Given the description of an element on the screen output the (x, y) to click on. 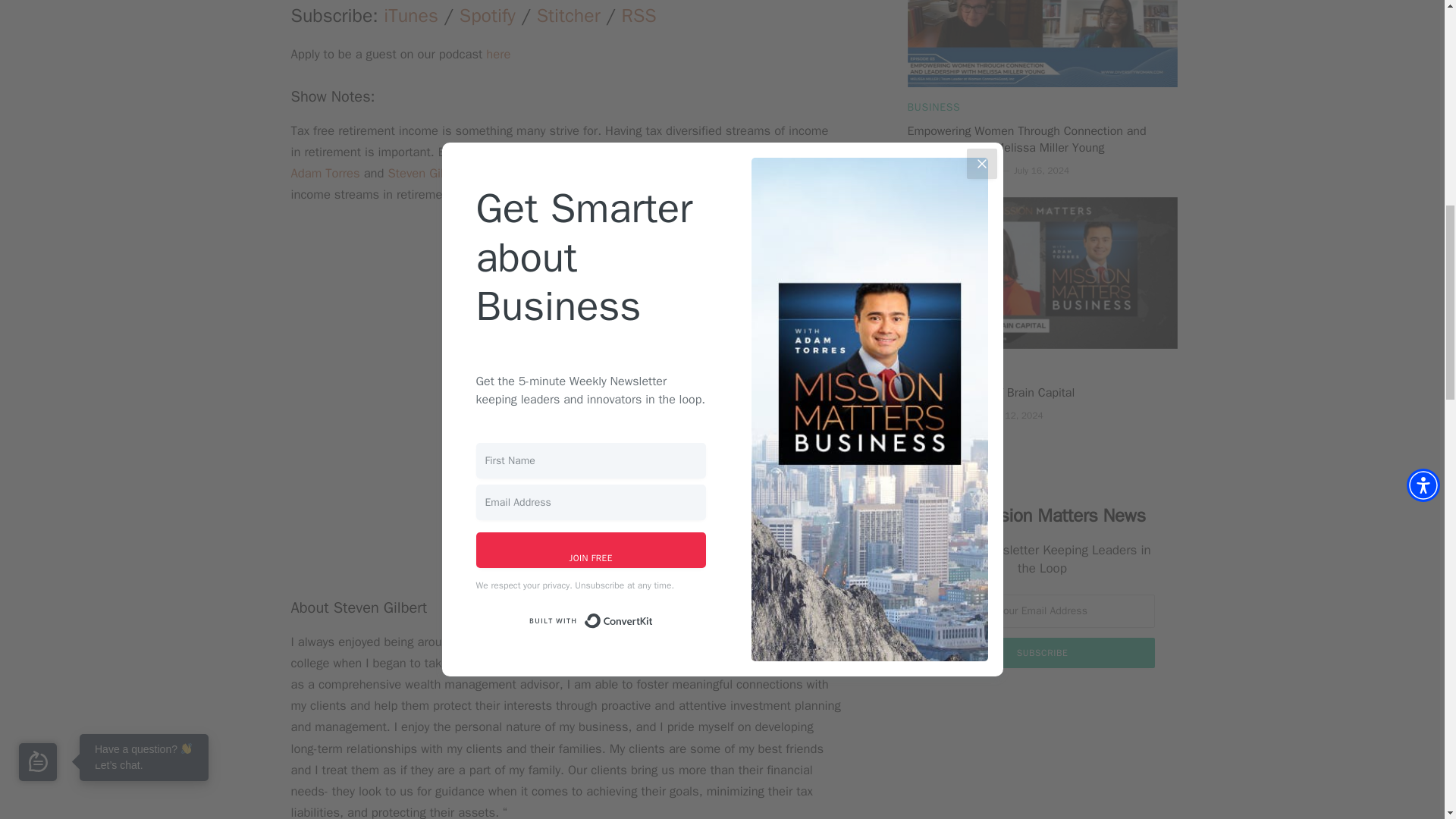
Subscribe (1042, 653)
